Given the description of an element on the screen output the (x, y) to click on. 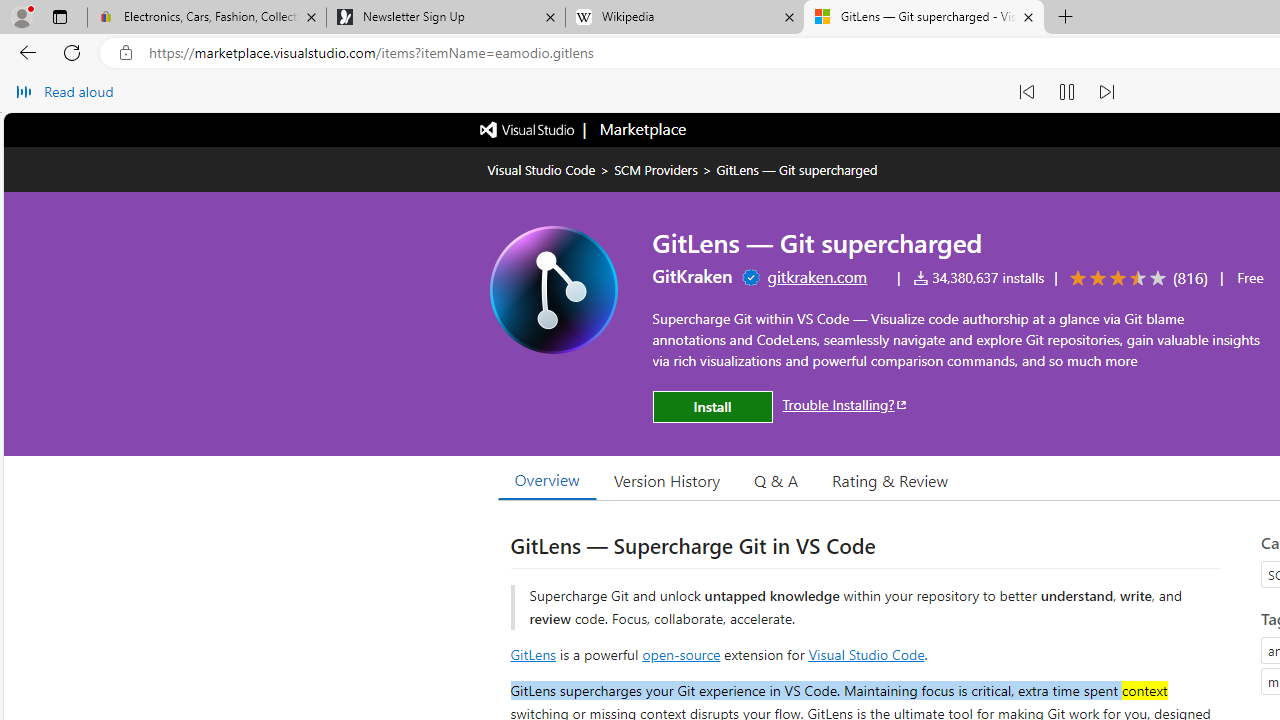
open-source (681, 653)
SCM Providers (655, 169)
gitkraken.com (816, 276)
Version History (667, 479)
More from GitKraken publisher (692, 276)
Pause read aloud (Ctrl+Shift+U) (1065, 92)
Visual Studio logo Marketplace logo (582, 129)
Visual Studio Code (866, 653)
